Given the description of an element on the screen output the (x, y) to click on. 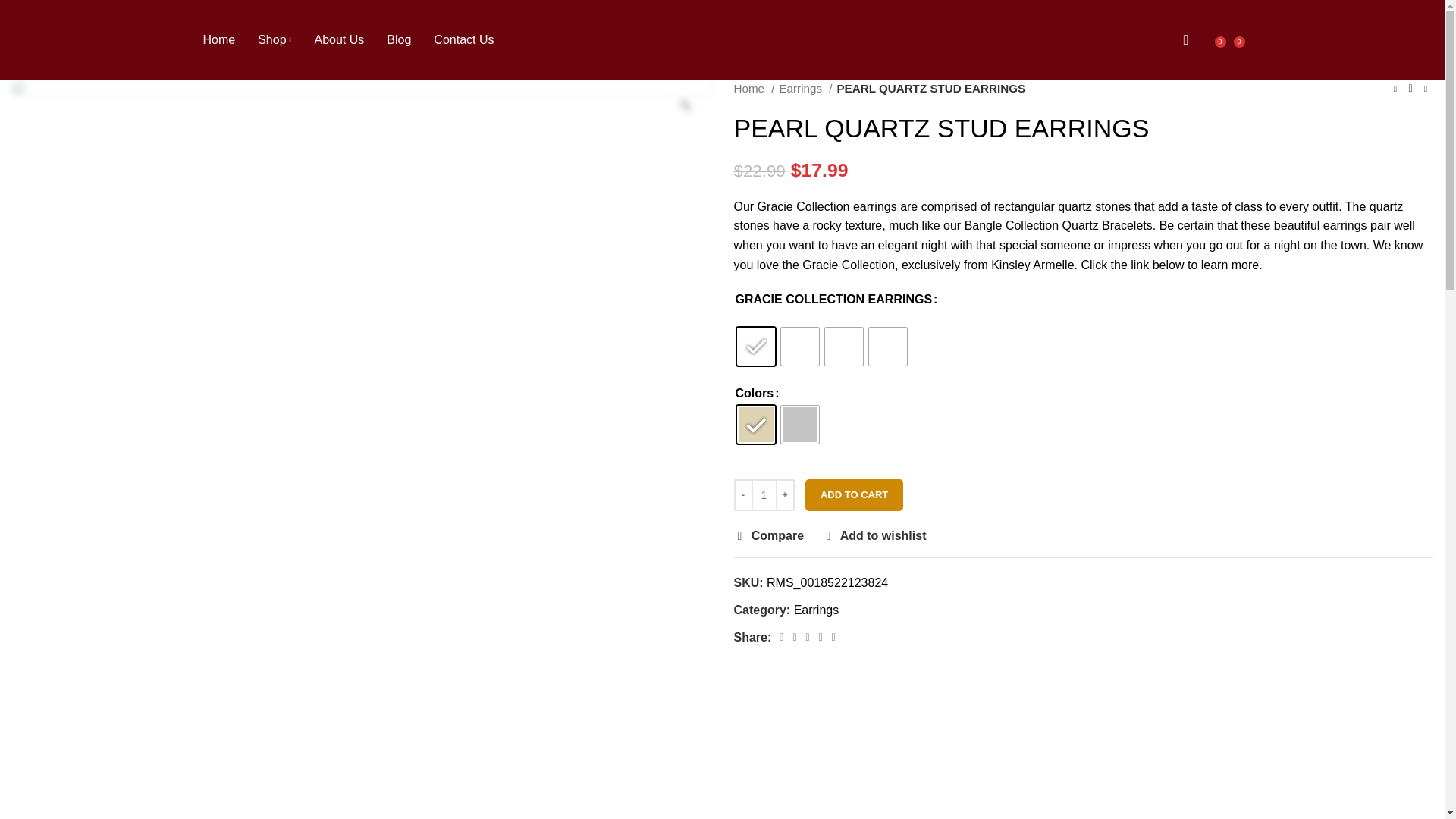
Contact Us (463, 39)
Zoom (684, 104)
PEARL QUARTZ STUD EARRINGS (799, 346)
AMBER QUARTZ STUD EARRINGS (755, 346)
About Us (338, 39)
Gold (755, 424)
Blog (398, 39)
Earrings (804, 88)
Shop (274, 39)
